Given the description of an element on the screen output the (x, y) to click on. 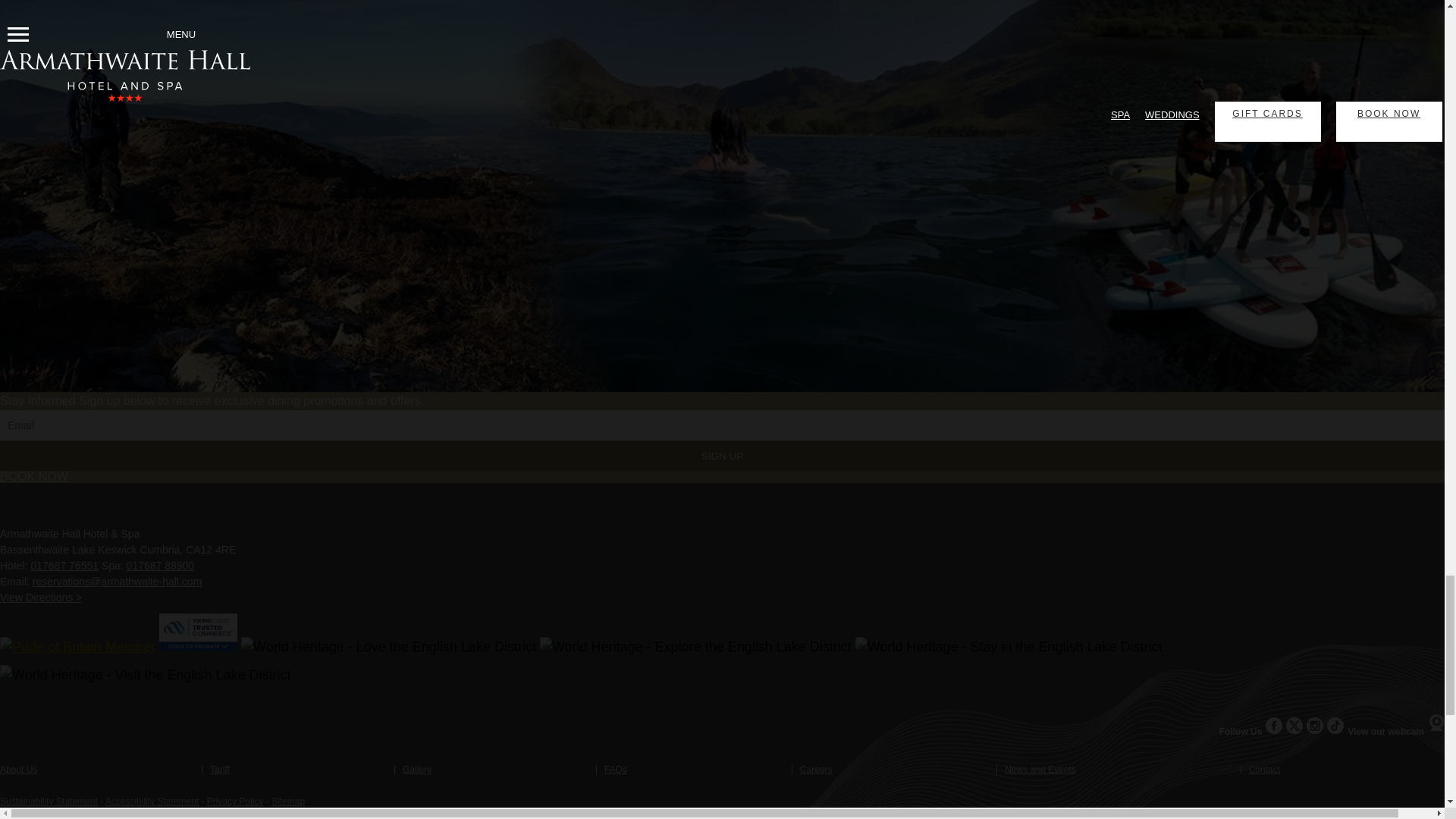
Sign Up (722, 455)
